Given the description of an element on the screen output the (x, y) to click on. 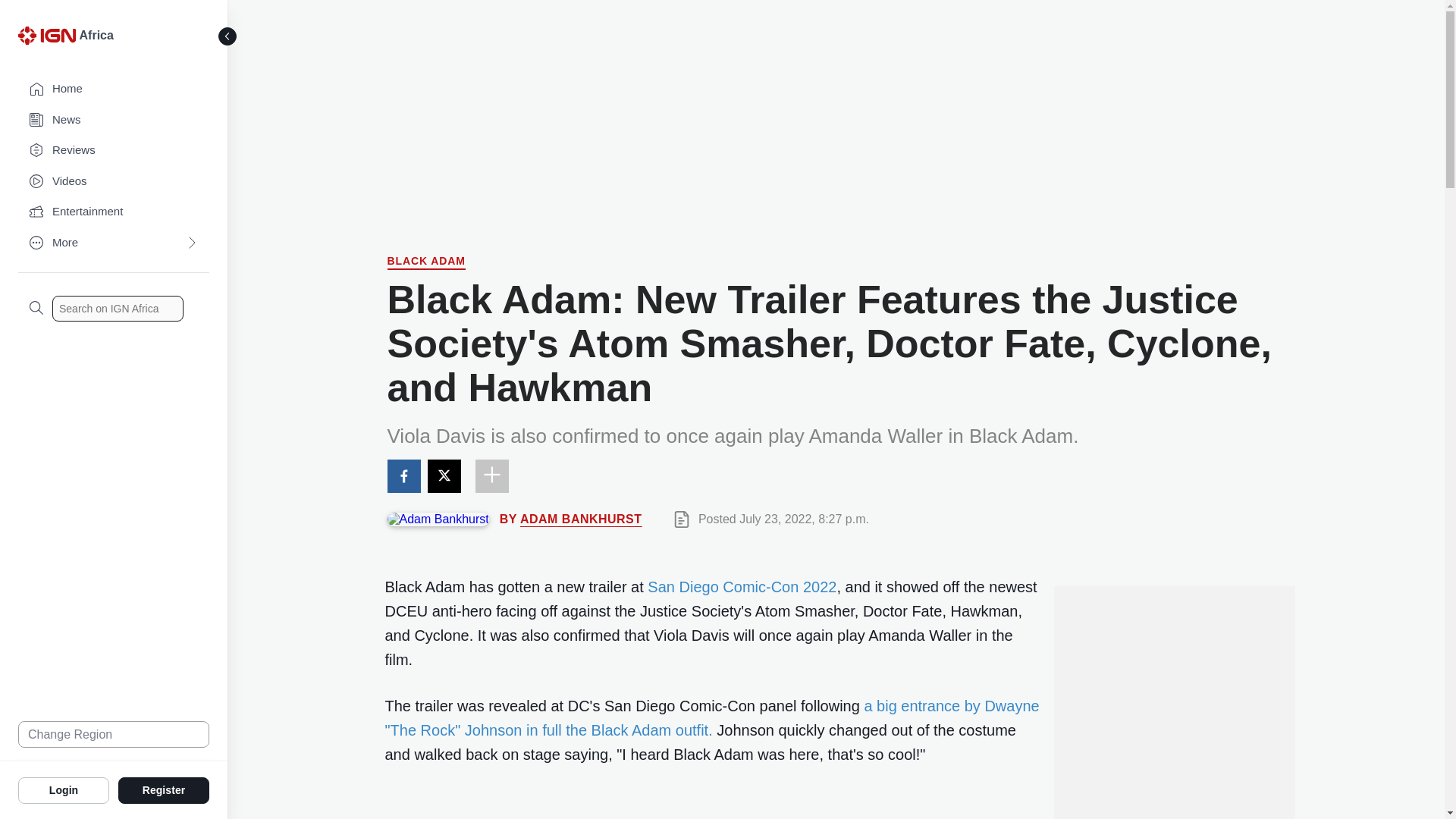
Home (113, 89)
IGN Logo (48, 39)
Black Adam (425, 262)
More (113, 242)
Reviews (113, 150)
San Diego Comic-Con 2022 (741, 586)
ADAM BANKHURST (580, 518)
Toggle Sidebar (226, 36)
News (113, 119)
Login (63, 789)
3rd party ad content (1173, 769)
Register (163, 789)
Entertainment (113, 211)
